Given the description of an element on the screen output the (x, y) to click on. 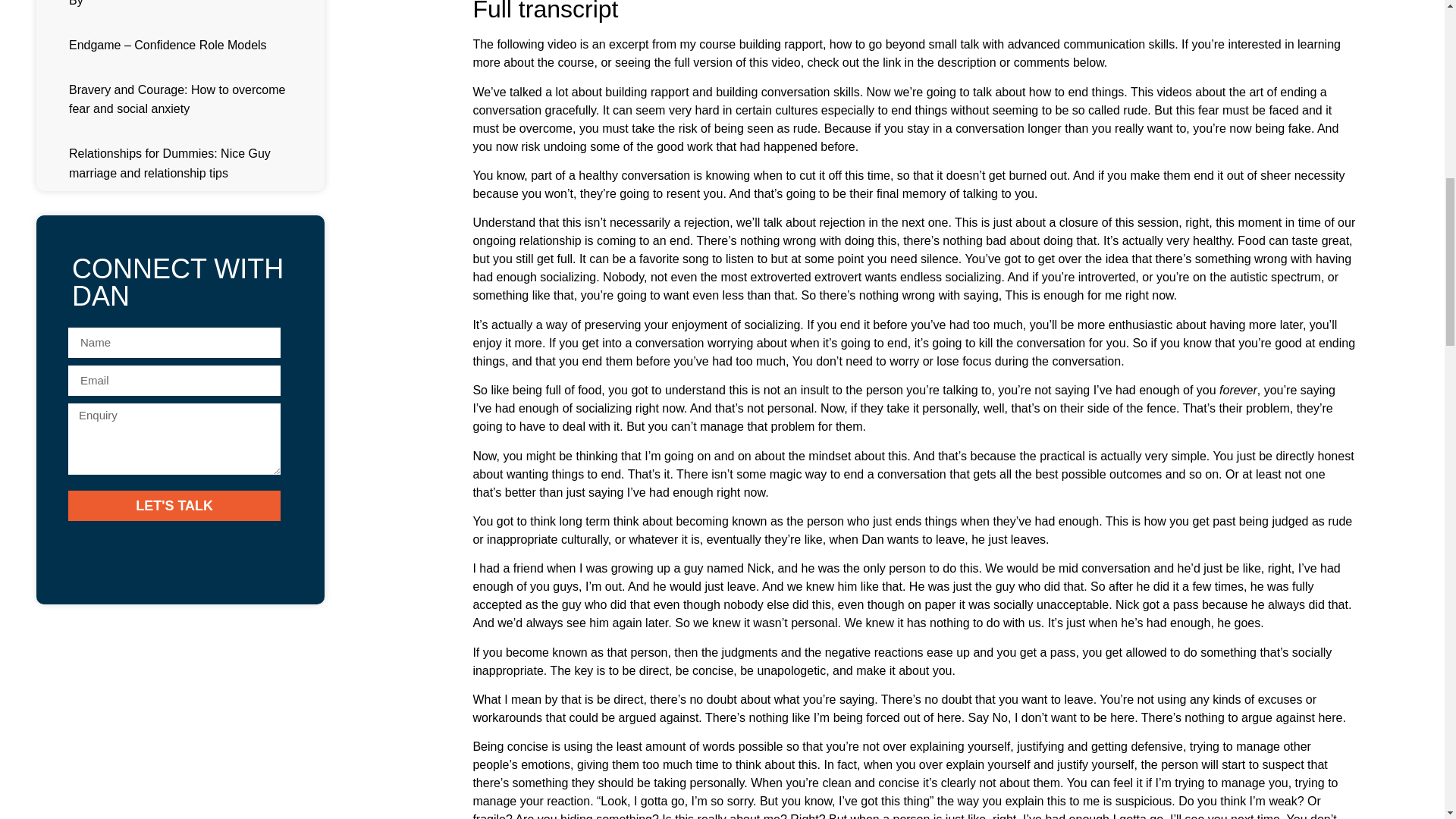
LET'S TALK (174, 505)
Finding Your Integrity: Core Values to Live By (181, 2)
Bravery and Courage: How to overcome fear and social anxiety (176, 99)
